Given the description of an element on the screen output the (x, y) to click on. 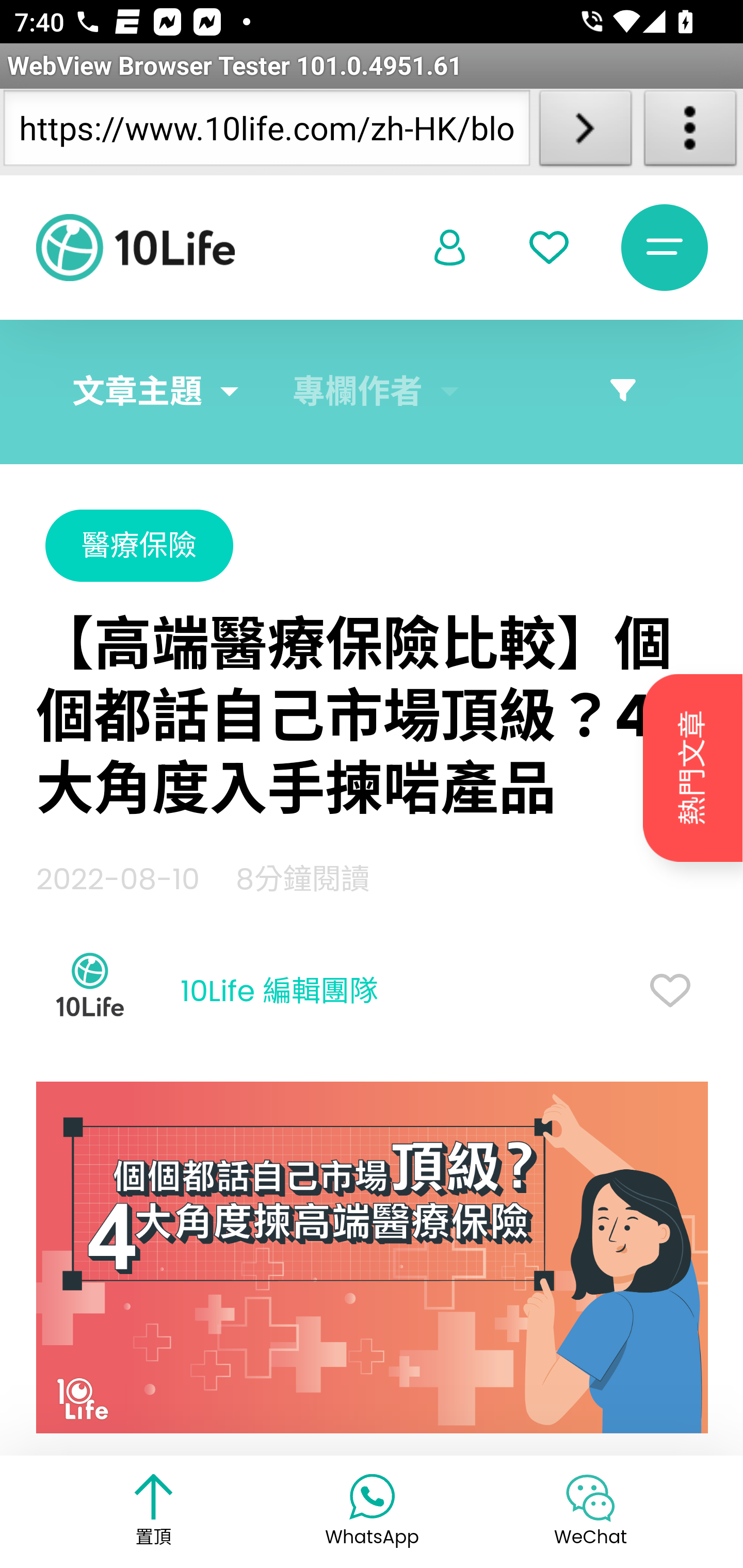
Load URL (585, 132)
About WebView (690, 132)
tenlife-normal-logo.43ea159 (135, 247)
javascript:void(0); profile_default.520744e (449, 248)
javascript:void(0); favourite_default.17e2042 (549, 247)
文章主題 專欄作者 (371, 391)
文章主題 (137, 391)
專欄作者 (358, 391)
10Life Logo 10Life 編輯團隊 10Life Logo 10Life 編輯團隊 (207, 992)
Whatsapp icon (371, 1494)
WeChat icon (589, 1497)
